Given the description of an element on the screen output the (x, y) to click on. 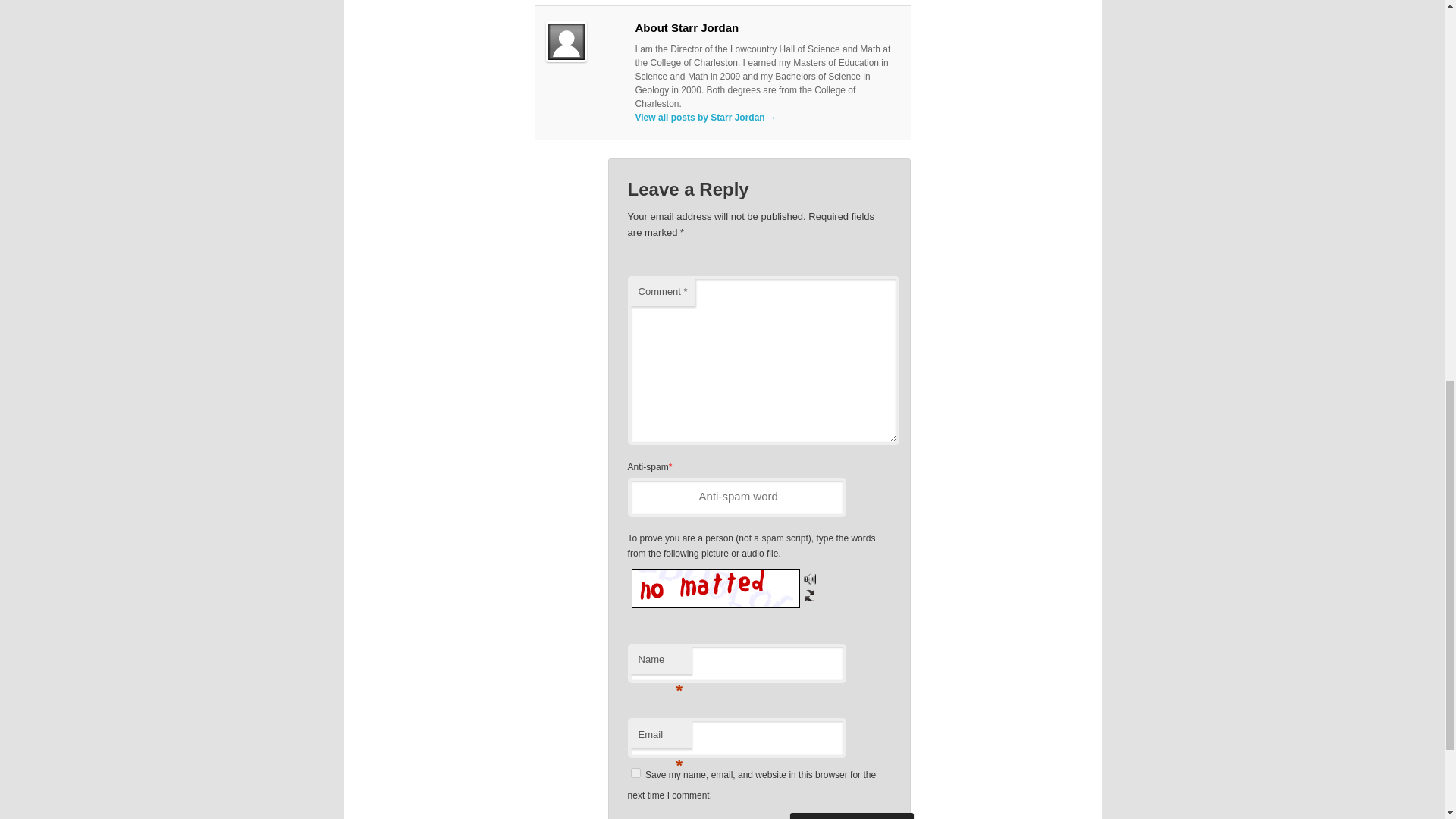
yes (635, 773)
Post Comment (852, 816)
Post Comment (852, 816)
Listen (809, 578)
Load new (809, 594)
